Given the description of an element on the screen output the (x, y) to click on. 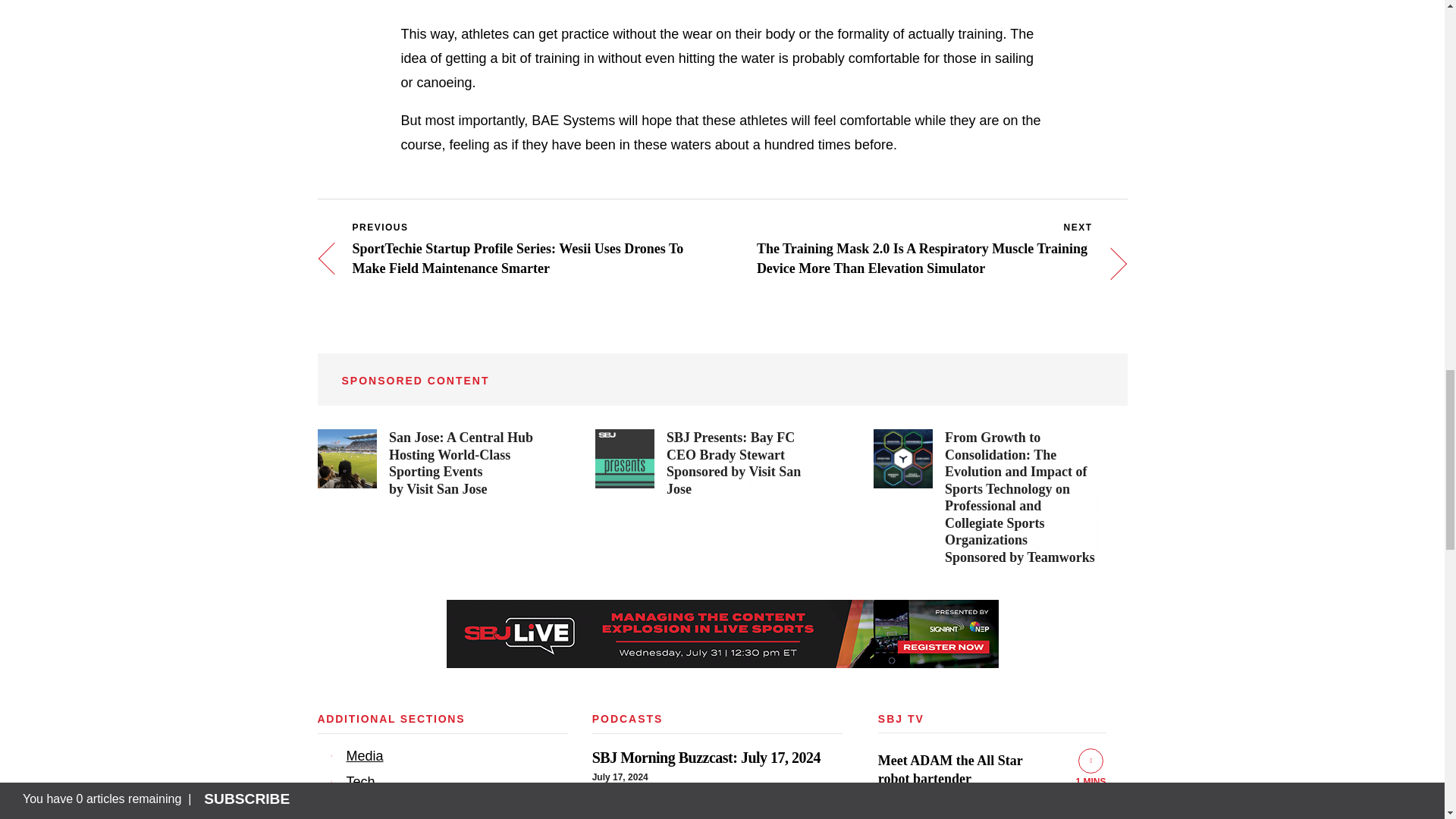
3rd party ad content (721, 633)
3rd party ad content (986, 498)
3rd party ad content (708, 464)
3rd party ad content (430, 464)
